Given the description of an element on the screen output the (x, y) to click on. 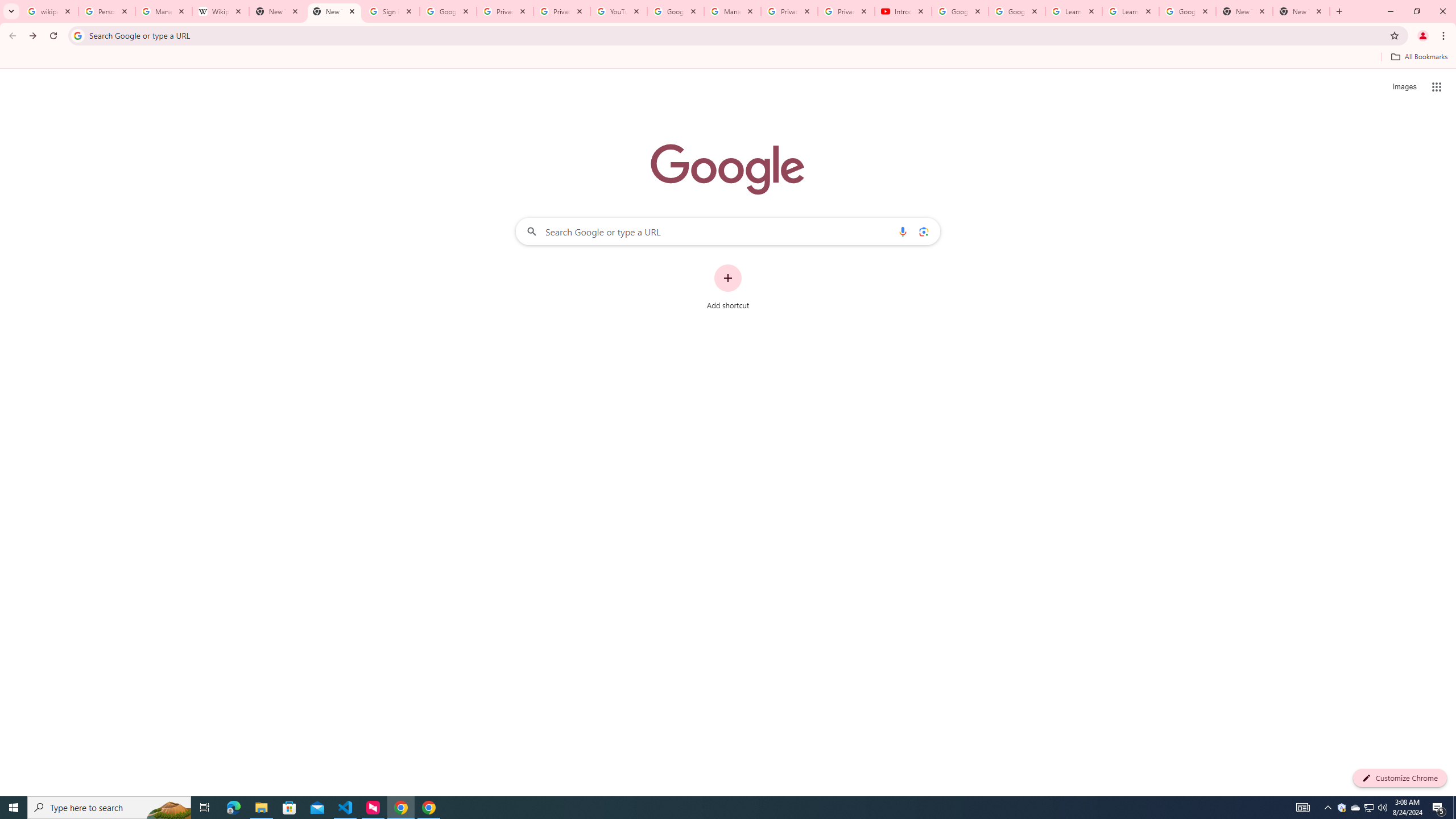
Bookmarks (728, 58)
Google Drive: Sign-in (447, 11)
Search by voice (902, 230)
New Tab (1301, 11)
Search for Images  (1403, 87)
Search by image (922, 230)
Google Account (1187, 11)
